Given the description of an element on the screen output the (x, y) to click on. 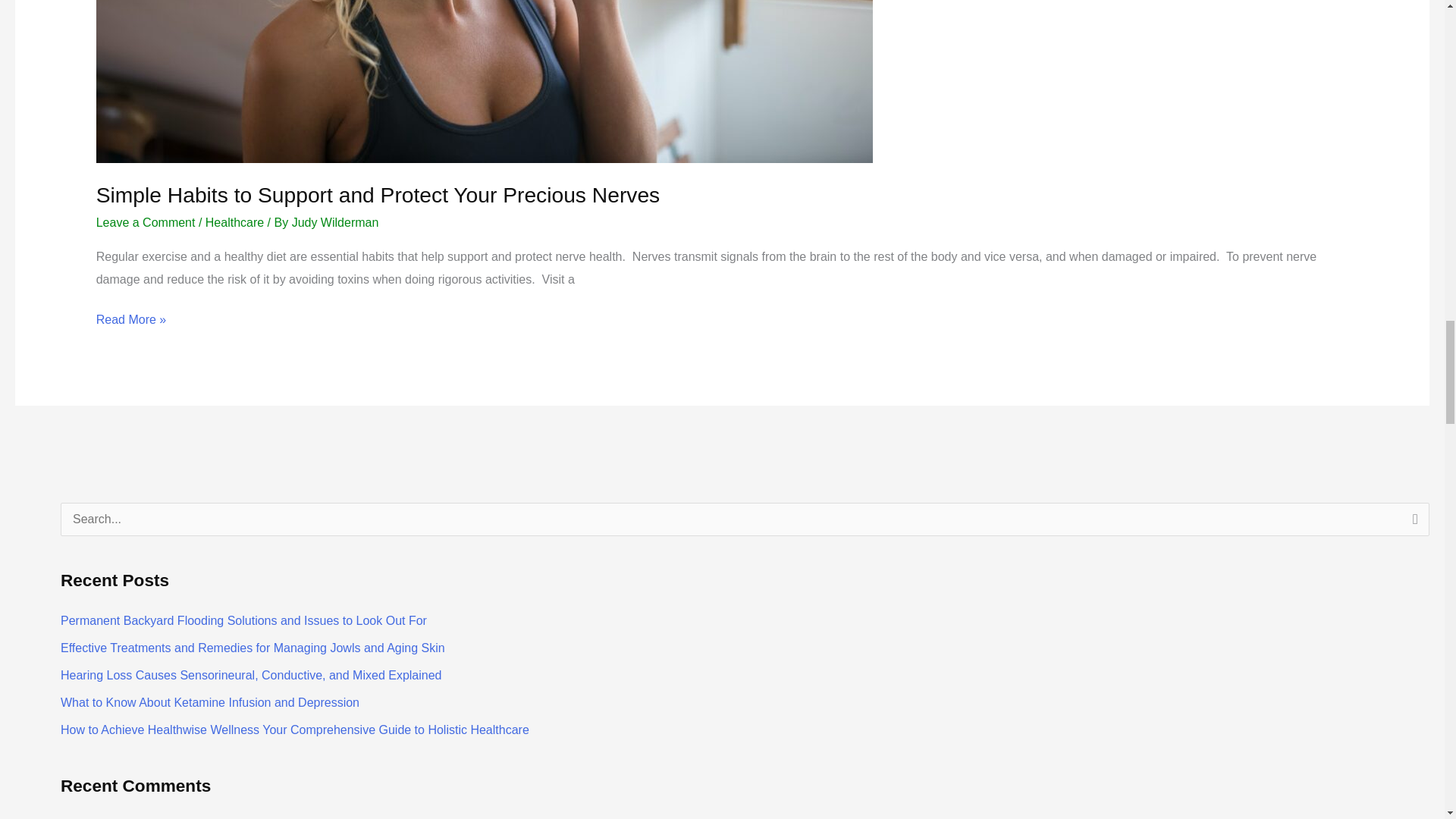
Healthcare (234, 222)
Leave a Comment (145, 222)
What to Know About Ketamine Infusion and Depression (210, 702)
Judy Wilderman (335, 222)
Simple Habits to Support and Protect Your Precious Nerves (377, 194)
View all posts by Judy Wilderman (335, 222)
